Given the description of an element on the screen output the (x, y) to click on. 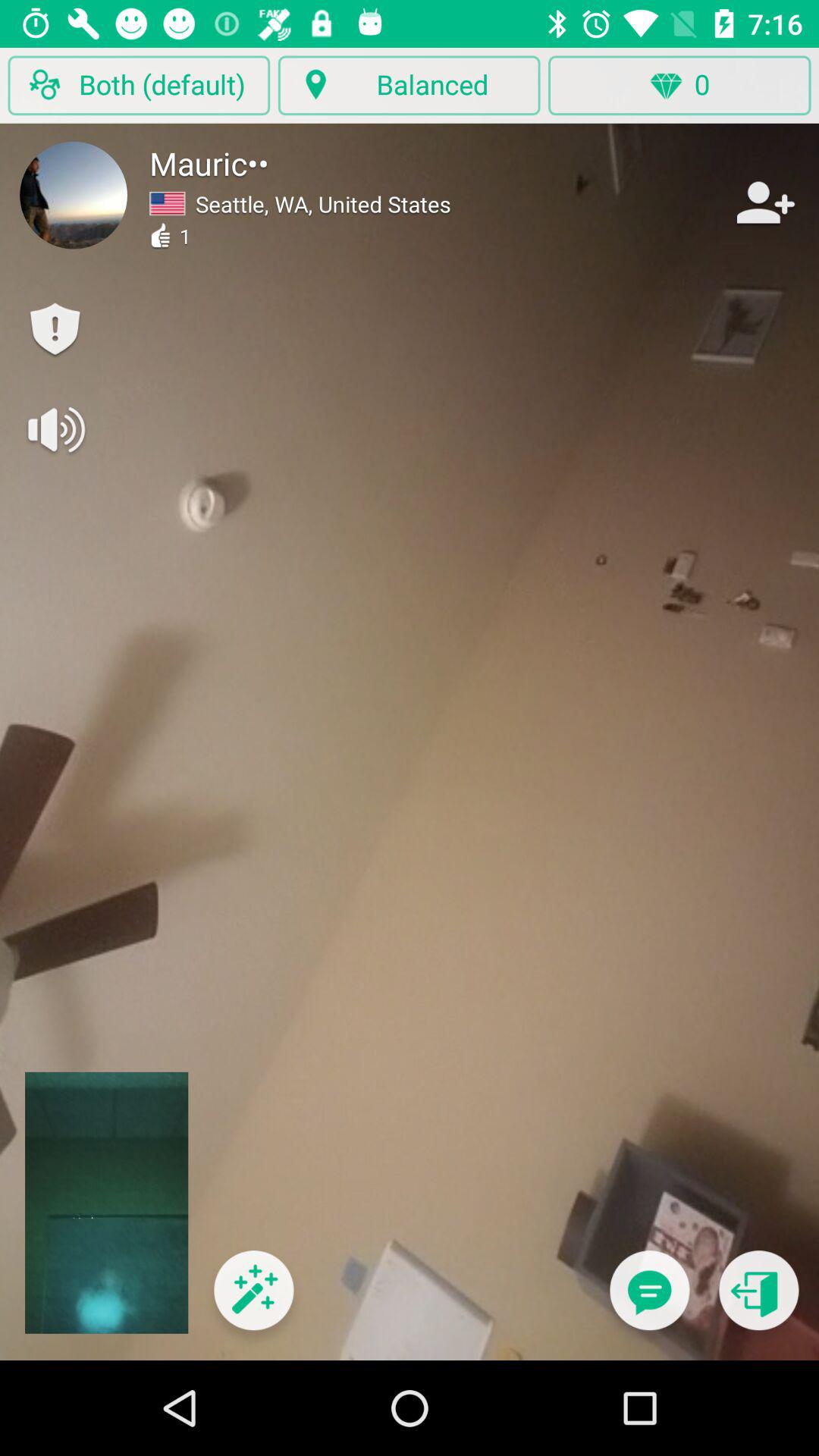
view user profile (73, 195)
